Given the description of an element on the screen output the (x, y) to click on. 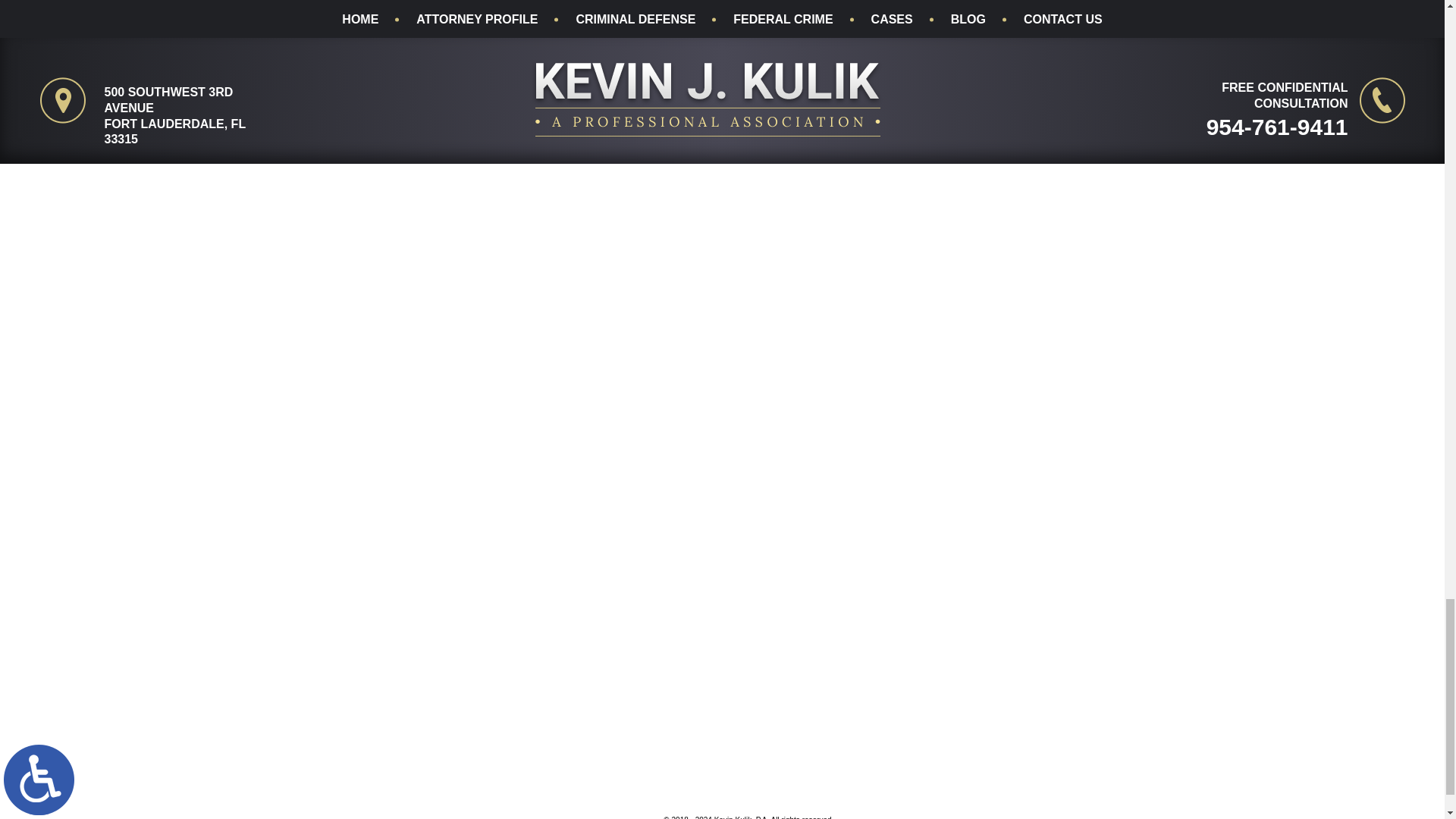
MileMark Media (590, 812)
